Given the description of an element on the screen output the (x, y) to click on. 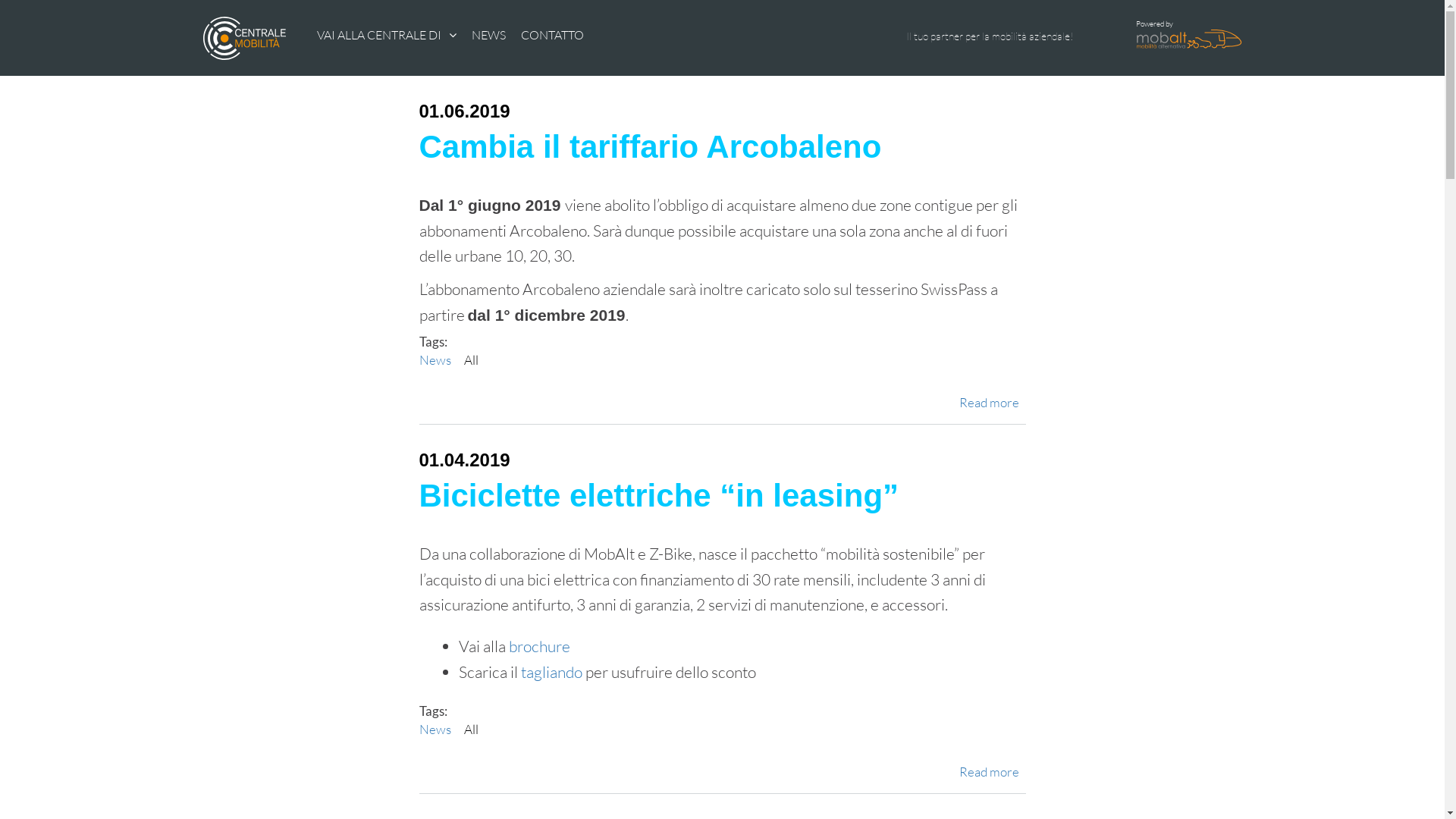
Read more
about Cambia il tariffario Arcobaleno Element type: text (989, 402)
VAI ALLA CENTRALE DI Element type: text (378, 34)
Skip to main content Element type: text (670, 1)
All Element type: text (471, 729)
CONTATTO Element type: text (551, 34)
News Element type: text (434, 729)
All Element type: text (471, 359)
tagliando Element type: text (551, 671)
Home Element type: hover (239, 37)
News Element type: text (434, 359)
brochure Element type: text (539, 645)
NEWS Element type: text (488, 34)
